Given the description of an element on the screen output the (x, y) to click on. 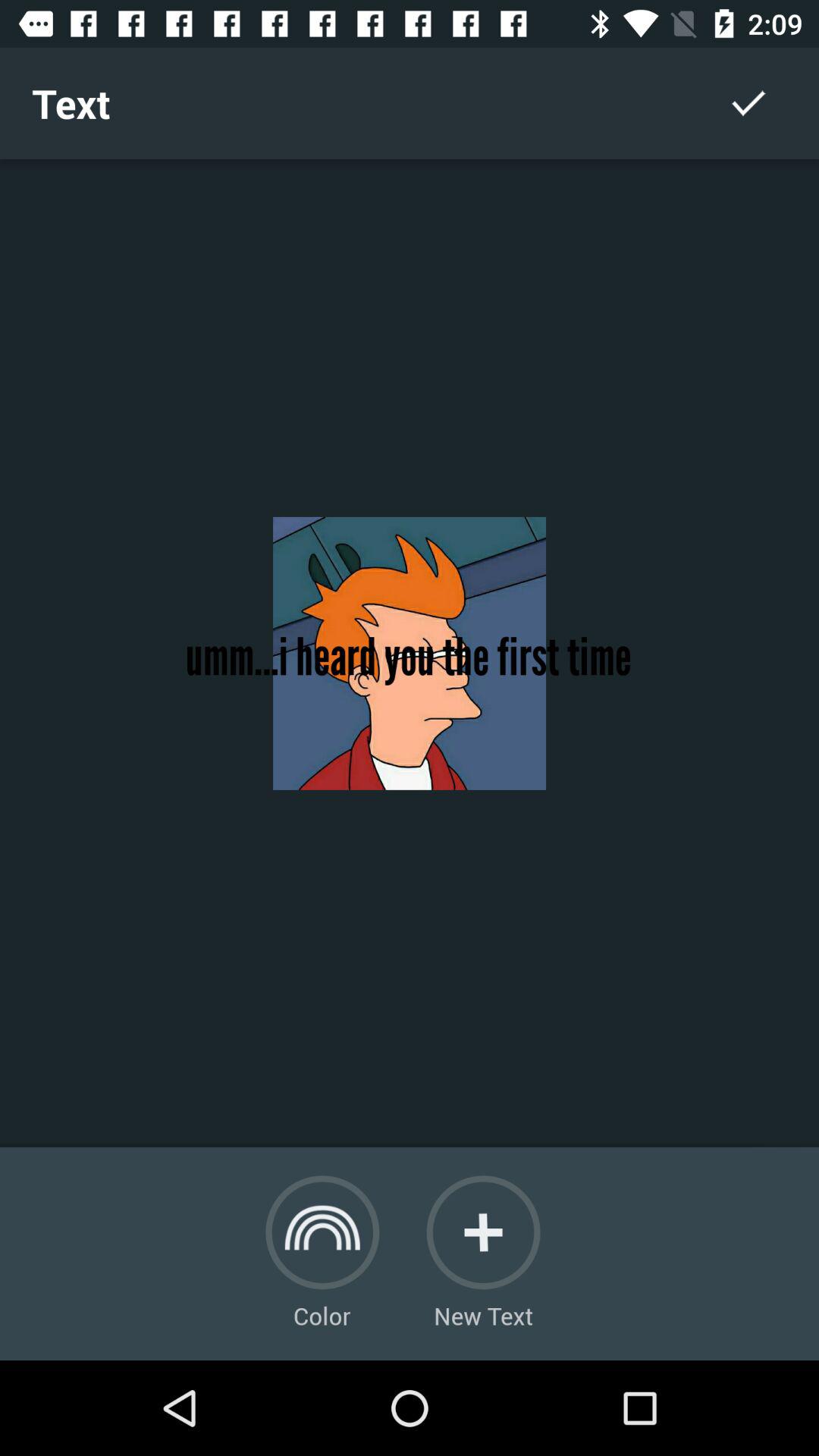
click the color button (322, 1232)
